Given the description of an element on the screen output the (x, y) to click on. 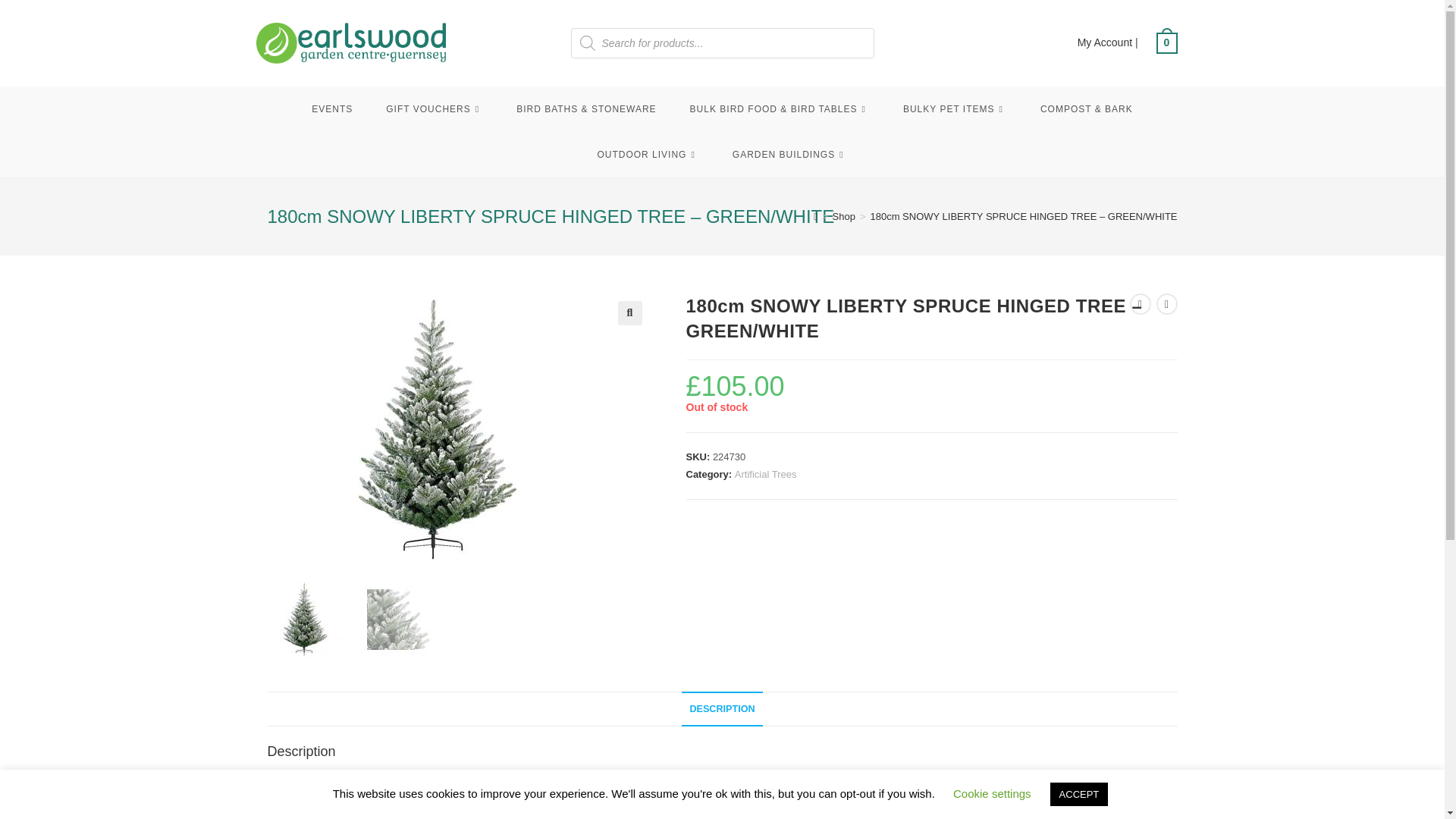
EVENTS (332, 108)
GARDEN BUILDINGS (790, 154)
OUTDOOR LIVING (646, 154)
My Account (1104, 42)
0 (1166, 42)
GIFT VOUCHERS (434, 108)
BULKY PET ITEMS (954, 108)
684142.jpg (437, 429)
